Given the description of an element on the screen output the (x, y) to click on. 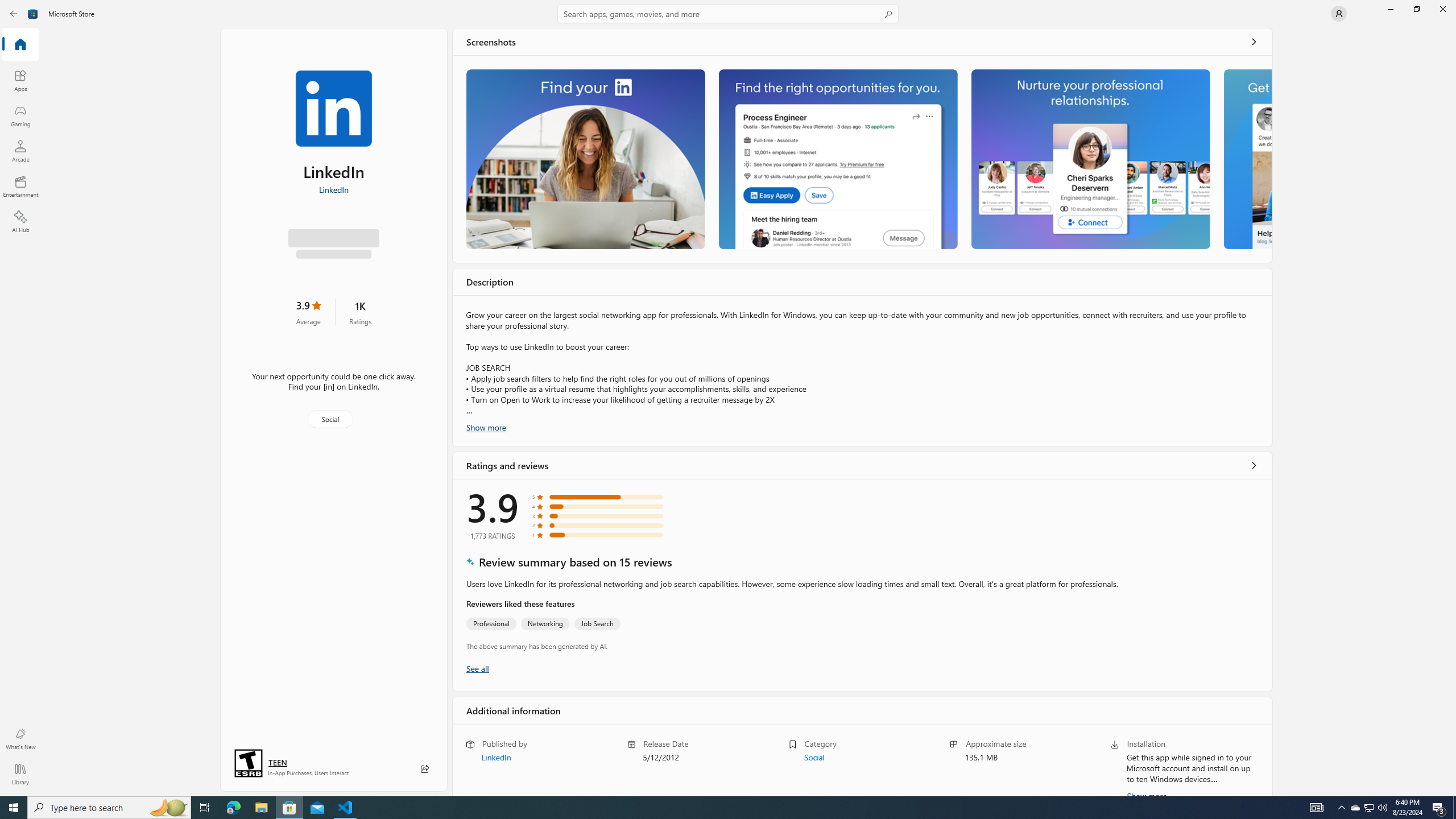
LinkedIn (332, 189)
Social (329, 422)
Entertainment (20, 185)
Class: Image (32, 13)
Minimize Microsoft Store (1390, 9)
Library (20, 773)
See all (1253, 41)
Show all ratings and reviews (477, 667)
Screenshot 1 (584, 158)
3.9 stars. Click to skip to ratings and reviews (307, 315)
AI Hub (20, 221)
Show more (485, 764)
User profile (1338, 13)
Home (20, 45)
Search (727, 13)
